Given the description of an element on the screen output the (x, y) to click on. 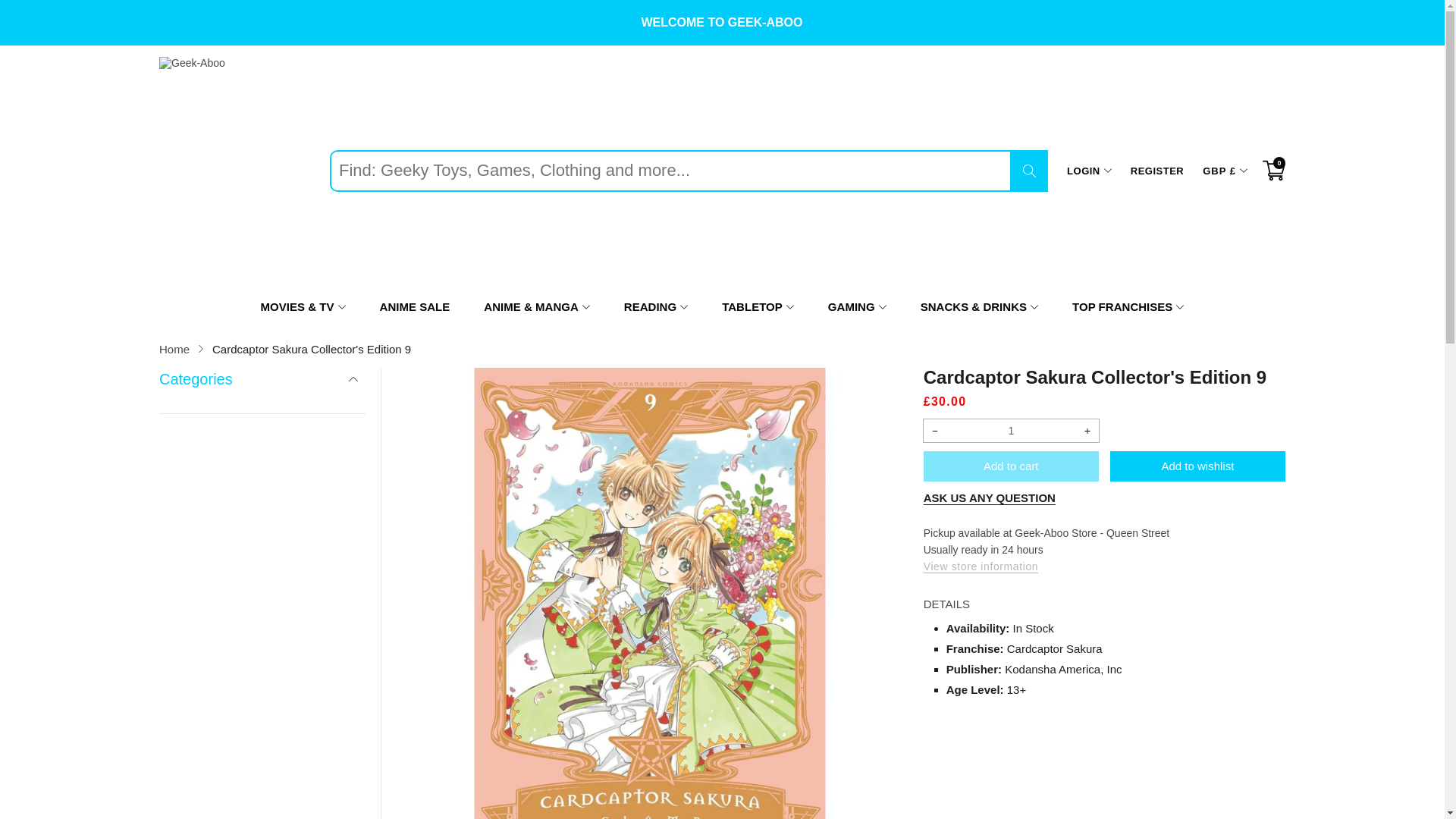
Add to wishlist (1196, 466)
Back to the frontpage (173, 349)
Add to wishlist (1197, 466)
1 (1010, 430)
